Given the description of an element on the screen output the (x, y) to click on. 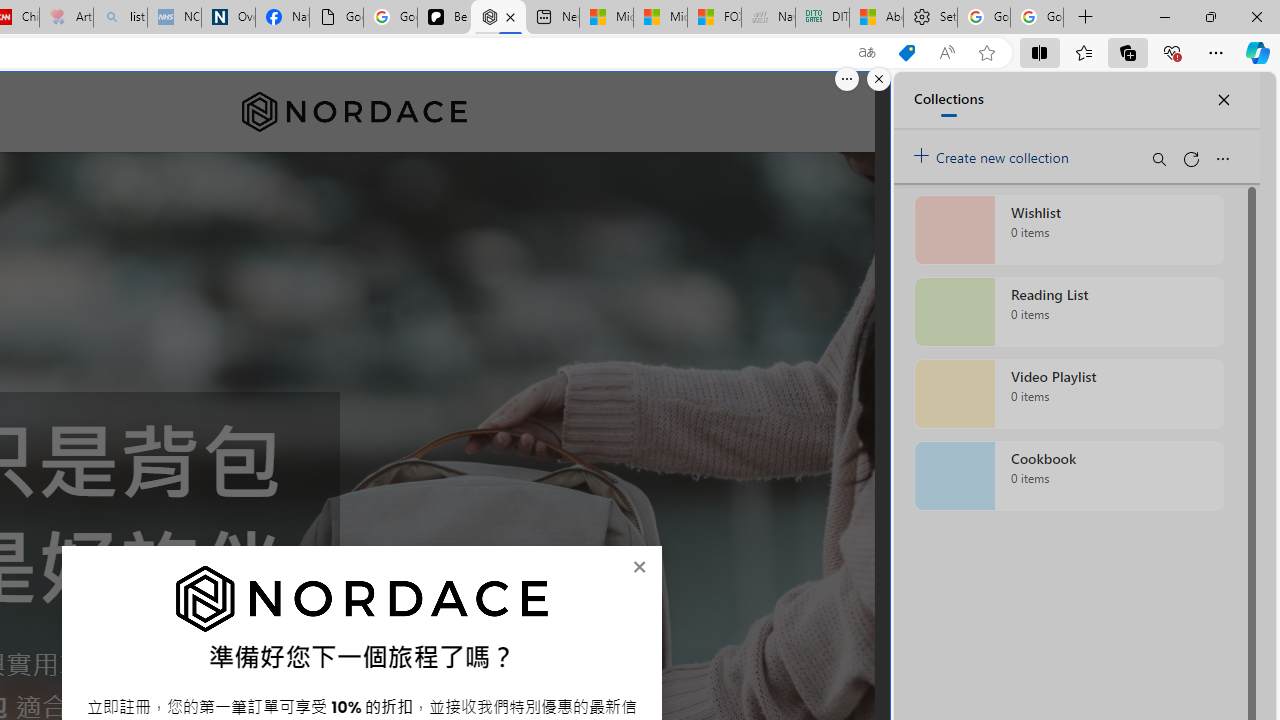
Arthritis: Ask Health Professionals - Sleeping (66, 17)
More options. (846, 79)
